Given the description of an element on the screen output the (x, y) to click on. 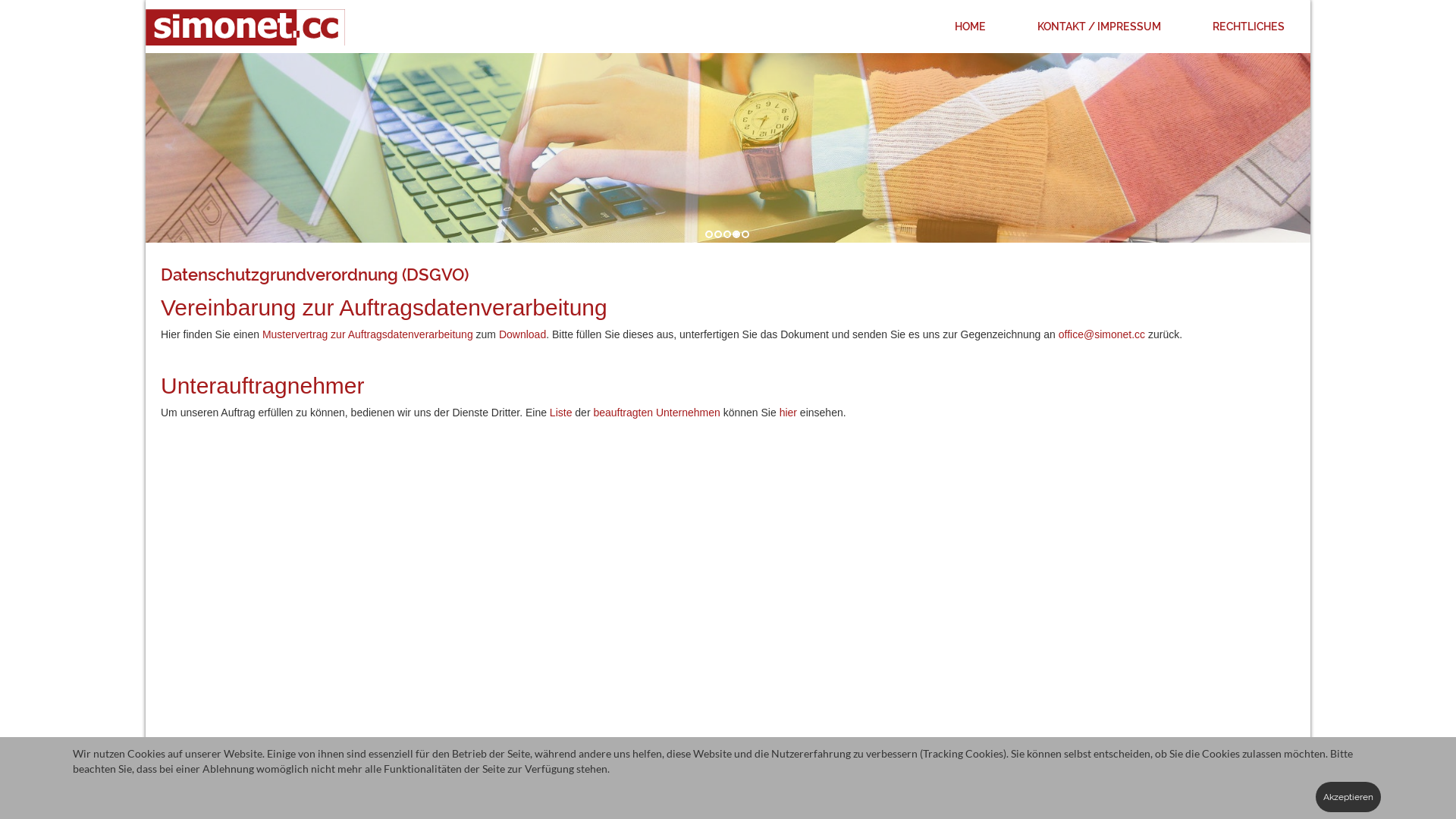
3 Element type: text (727, 234)
4 Element type: text (736, 234)
Mustervertrag zur Auftragsdatenverarbeitung Element type: text (367, 334)
office@simonet.cc Element type: text (1101, 334)
hier Element type: text (788, 412)
Akzeptieren Element type: text (1347, 796)
5 Element type: text (745, 234)
Download Element type: text (522, 334)
RECHTLICHES Element type: text (1248, 26)
office@simonet.cc Element type: text (727, 781)
HOME Element type: text (969, 26)
beauftragten Unternehmen Element type: text (656, 412)
1 Element type: text (708, 234)
2 Element type: text (717, 234)
KONTAKT / IMPRESSUM Element type: text (1099, 26)
Liste Element type: text (560, 412)
